Given the description of an element on the screen output the (x, y) to click on. 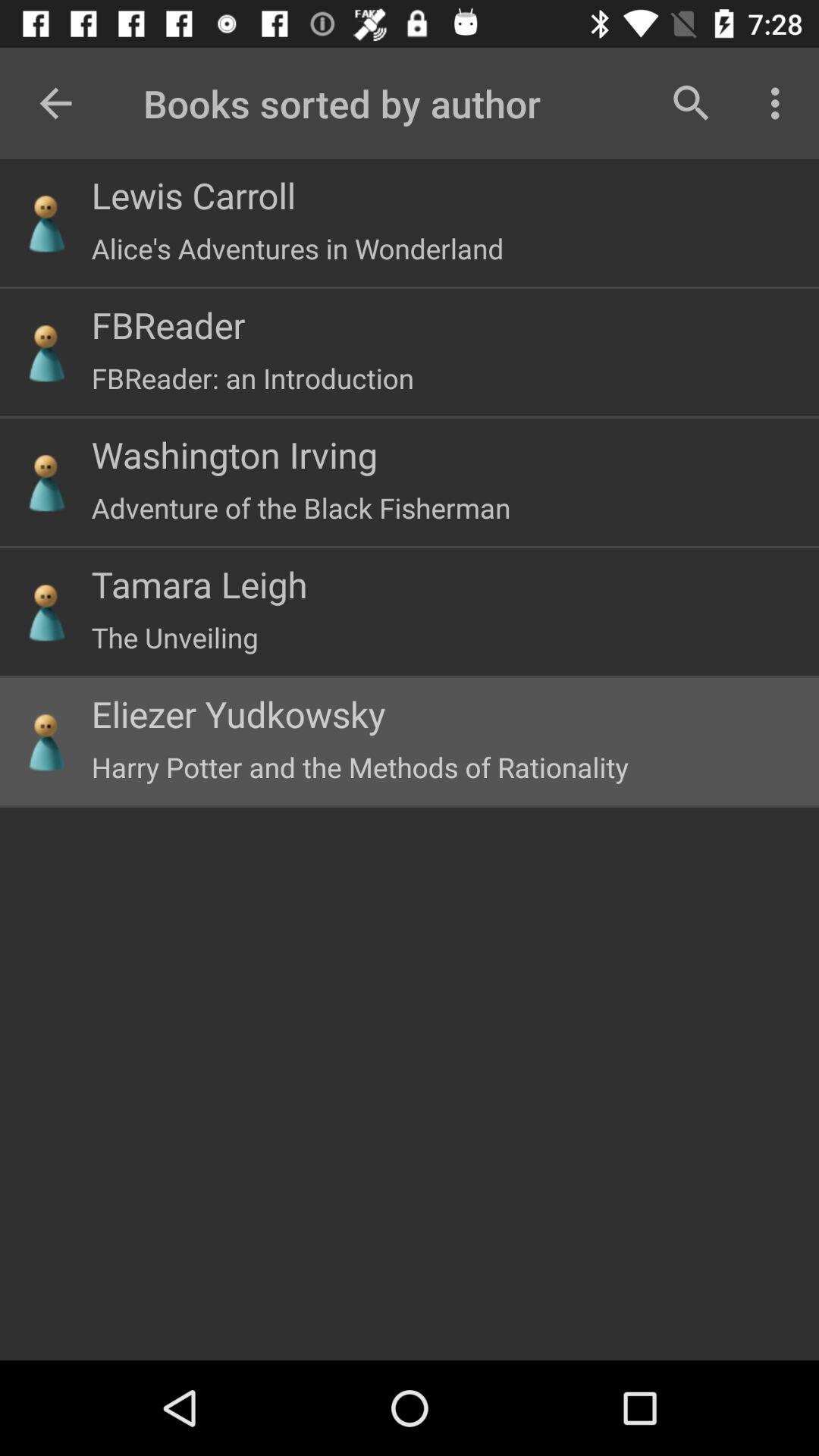
swipe to lewis carroll (193, 195)
